Given the description of an element on the screen output the (x, y) to click on. 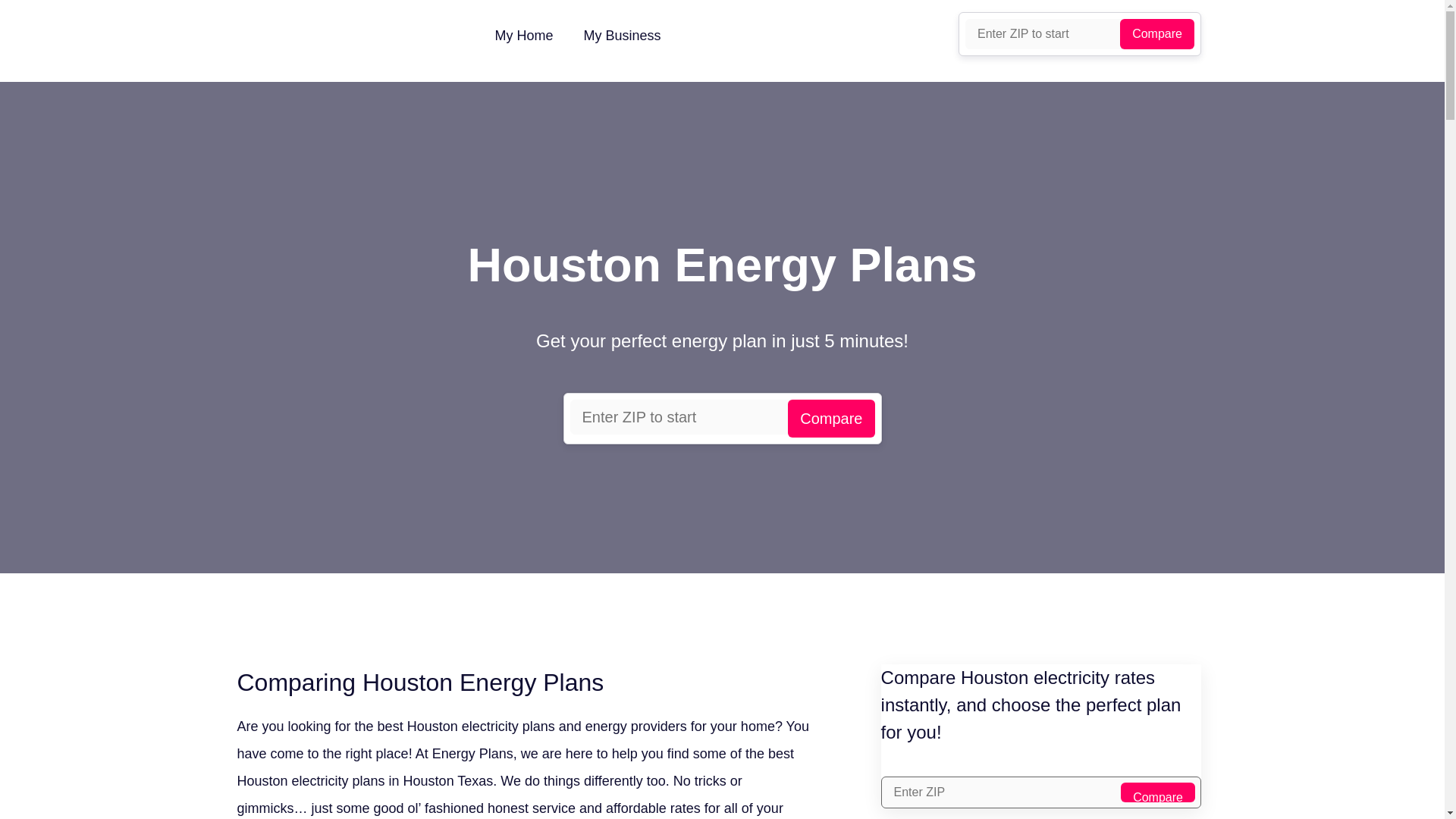
Compare (1156, 33)
Compare (831, 418)
Houston electricity plans and energy providers (547, 726)
My Home (523, 35)
Compare (1158, 792)
Compare (1156, 33)
Compare (831, 418)
My Business (623, 35)
